Given the description of an element on the screen output the (x, y) to click on. 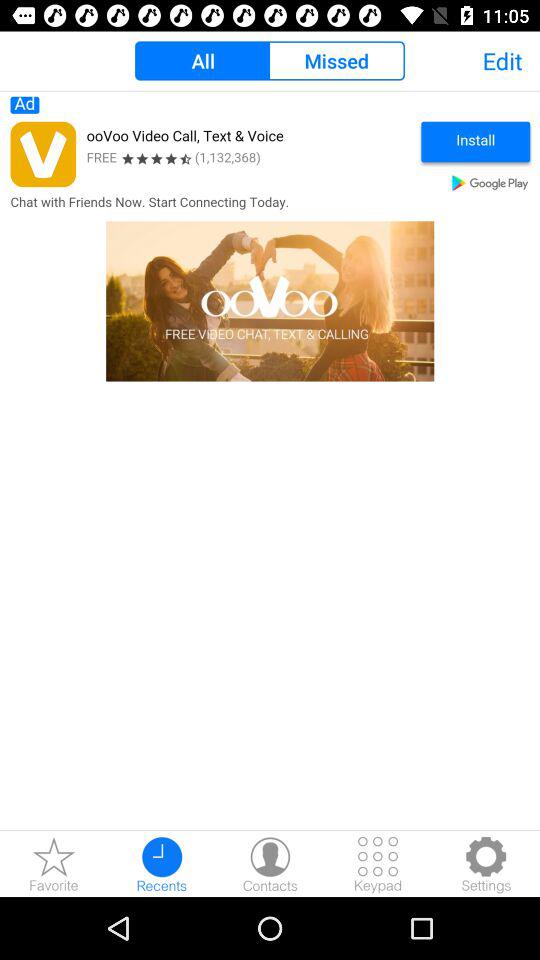
go to recent (161, 864)
